Given the description of an element on the screen output the (x, y) to click on. 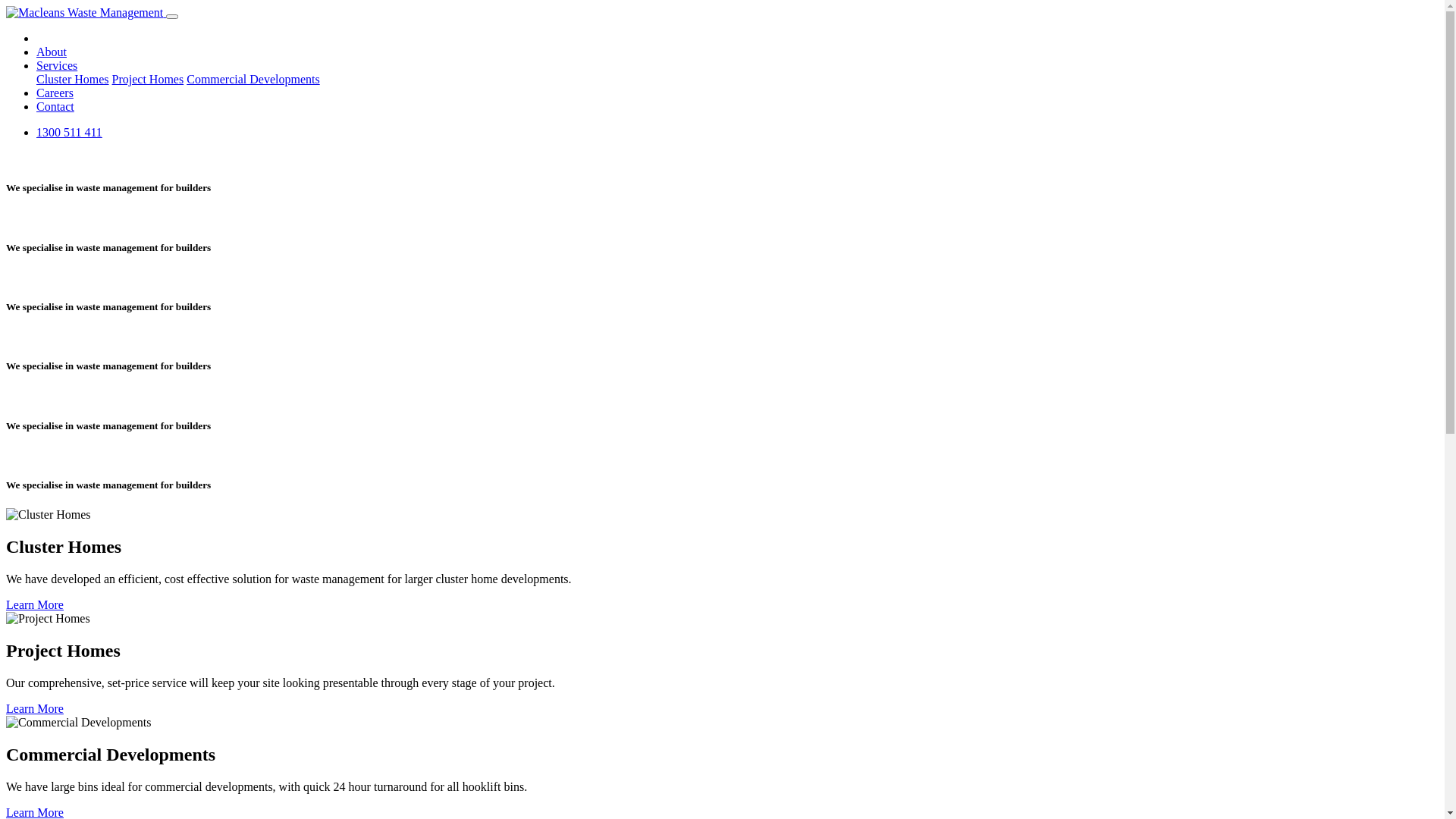
Services Element type: text (56, 65)
Cluster Homes Element type: text (72, 78)
Learn More Element type: text (34, 811)
Contact Element type: text (55, 106)
1300 511 411 Element type: text (69, 131)
Learn More Element type: text (34, 604)
Project Homes Element type: text (148, 78)
About Element type: text (51, 51)
Commercial Developments Element type: text (253, 78)
Learn More Element type: text (34, 708)
Careers Element type: text (54, 92)
